Given the description of an element on the screen output the (x, y) to click on. 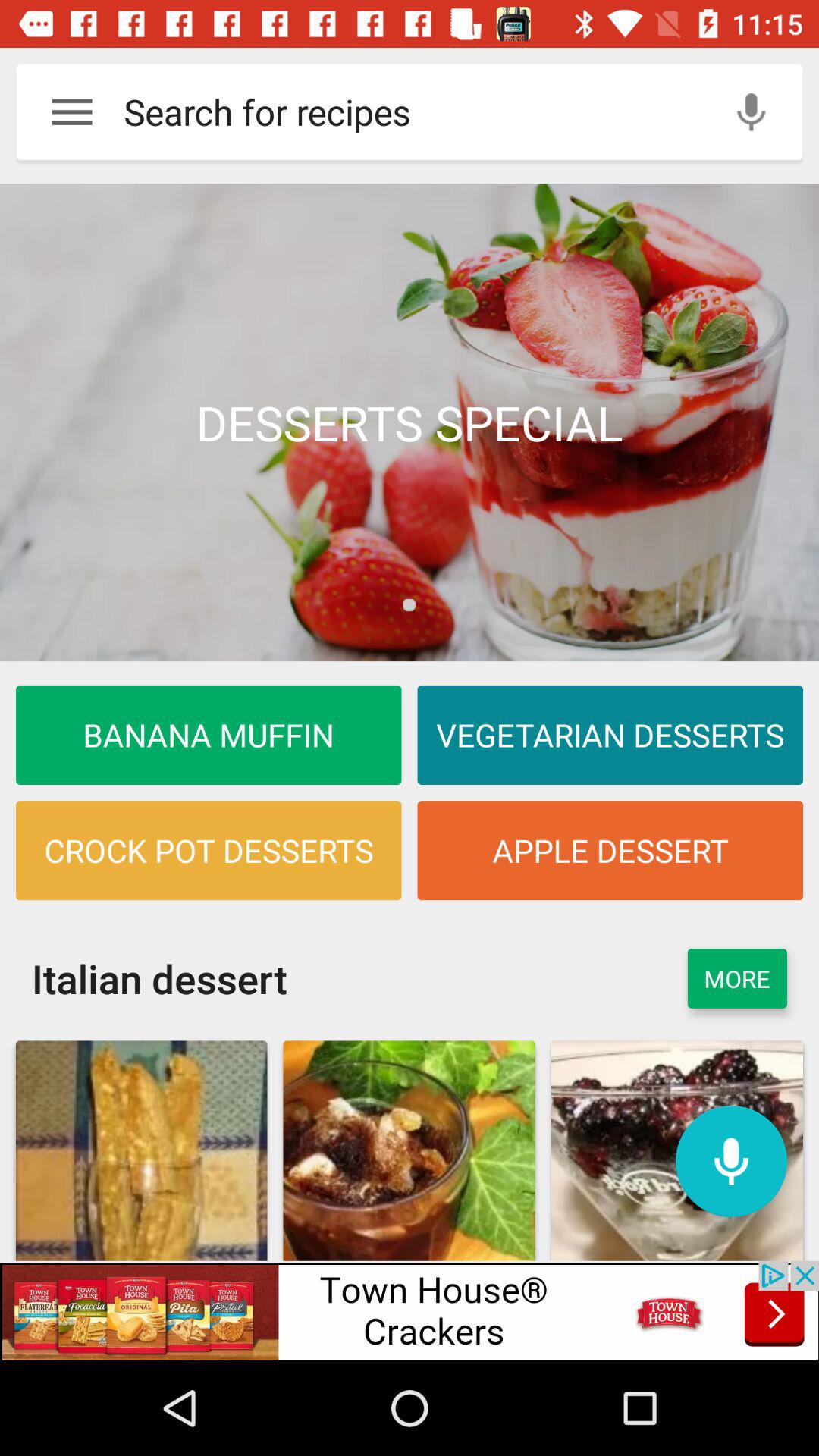
open dessert menu (409, 422)
